Given the description of an element on the screen output the (x, y) to click on. 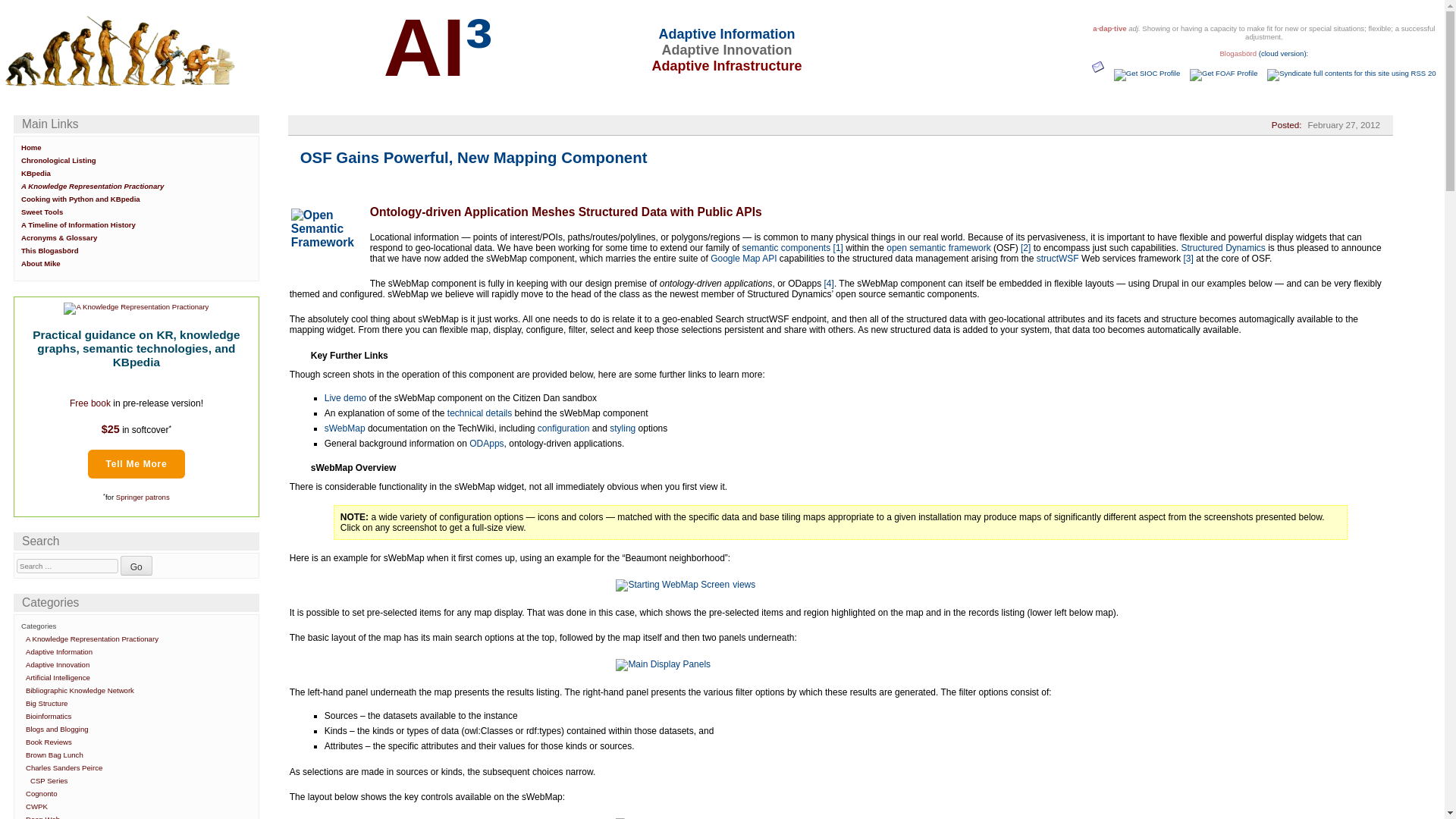
Open Semantic Framework (325, 242)
Get SIOC Profile (1148, 72)
Starting WebMap Screen (672, 585)
Google Map API (743, 258)
styling (622, 428)
views (683, 584)
configuration (563, 428)
ODApps (485, 443)
semantic components (785, 247)
email Mike (1099, 72)
